Given the description of an element on the screen output the (x, y) to click on. 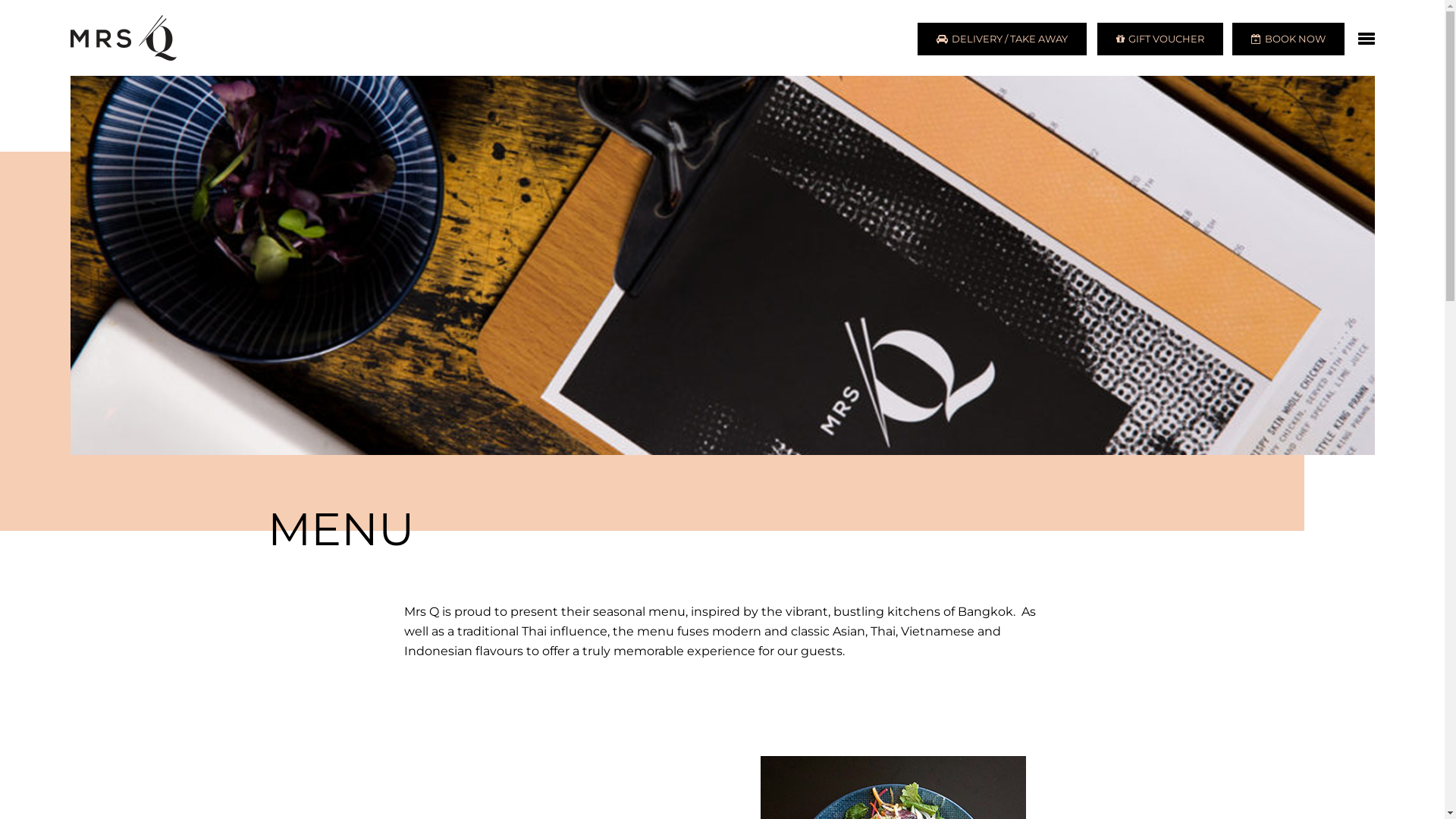
GIFT VOUCHER Element type: text (1159, 38)
BOOK NOW Element type: text (1287, 38)
DELIVERY / TAKE AWAY Element type: text (1001, 38)
